Given the description of an element on the screen output the (x, y) to click on. 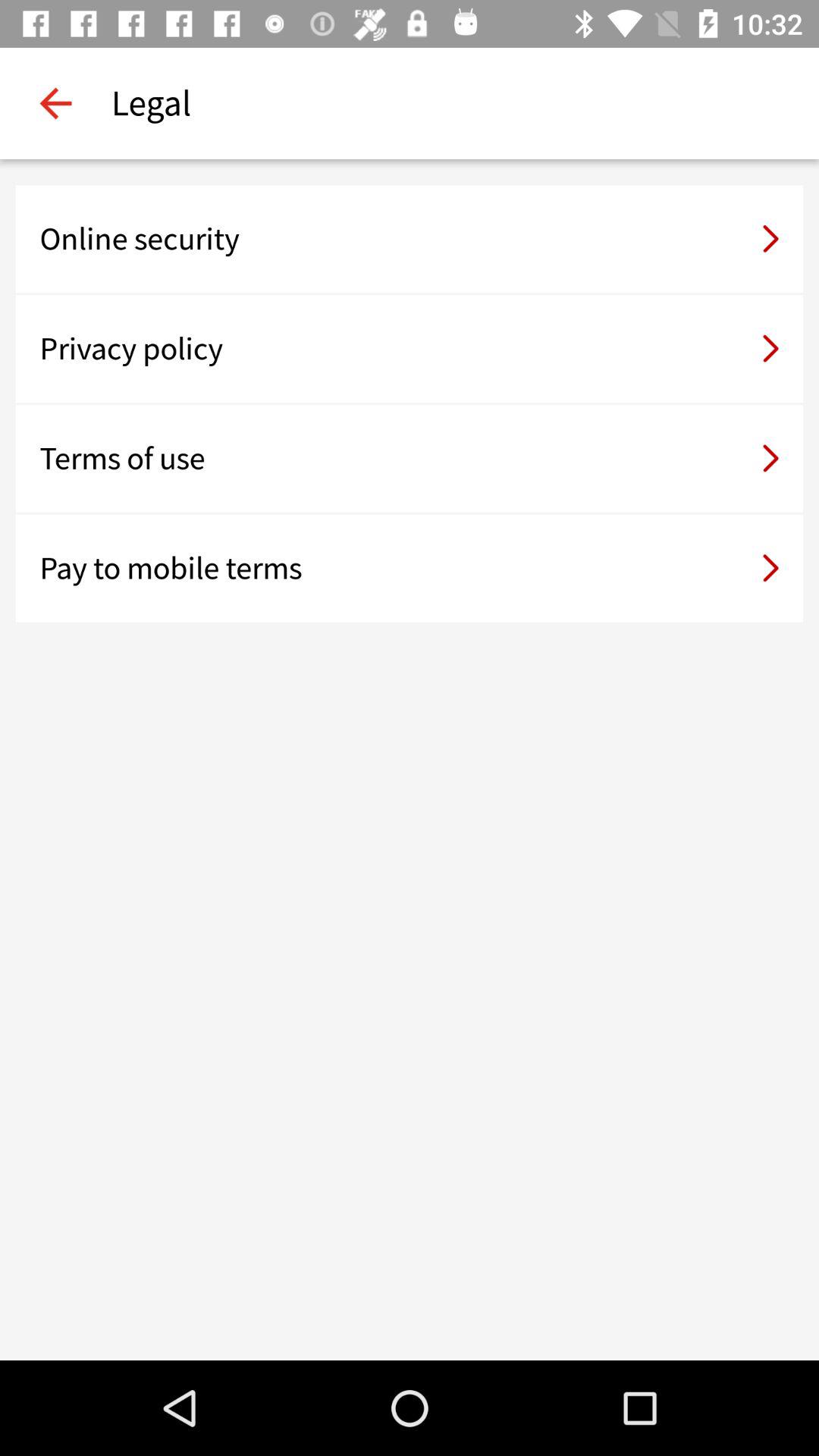
turn off icon above privacy policy (409, 238)
